Given the description of an element on the screen output the (x, y) to click on. 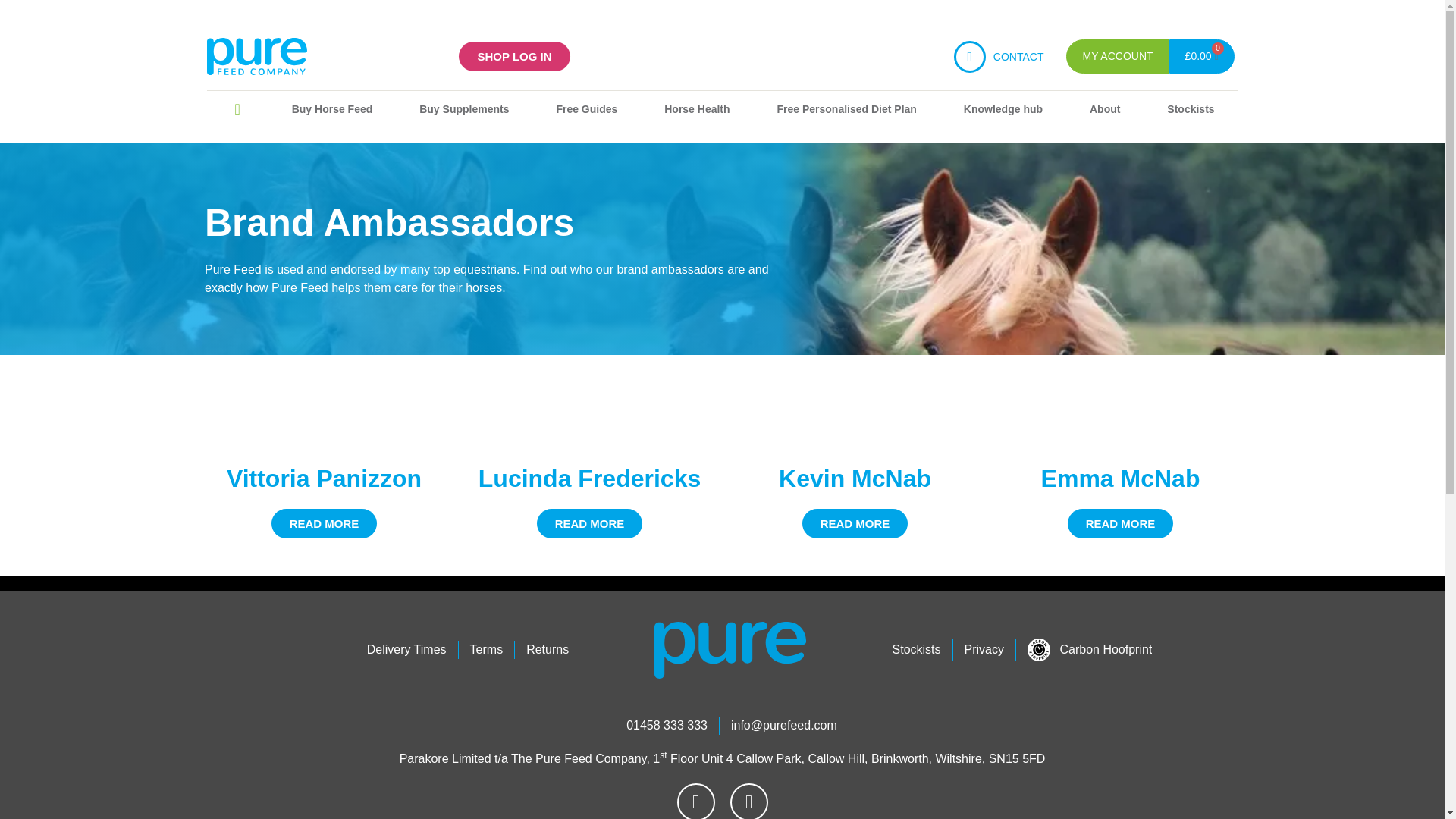
CONTACT (1017, 56)
Horse Health (696, 109)
MY ACCOUNT (1117, 56)
Buy Supplements (464, 109)
Buy Horse Feed (331, 109)
Free Guides (586, 109)
SHOP LOG IN (513, 56)
